Given the description of an element on the screen output the (x, y) to click on. 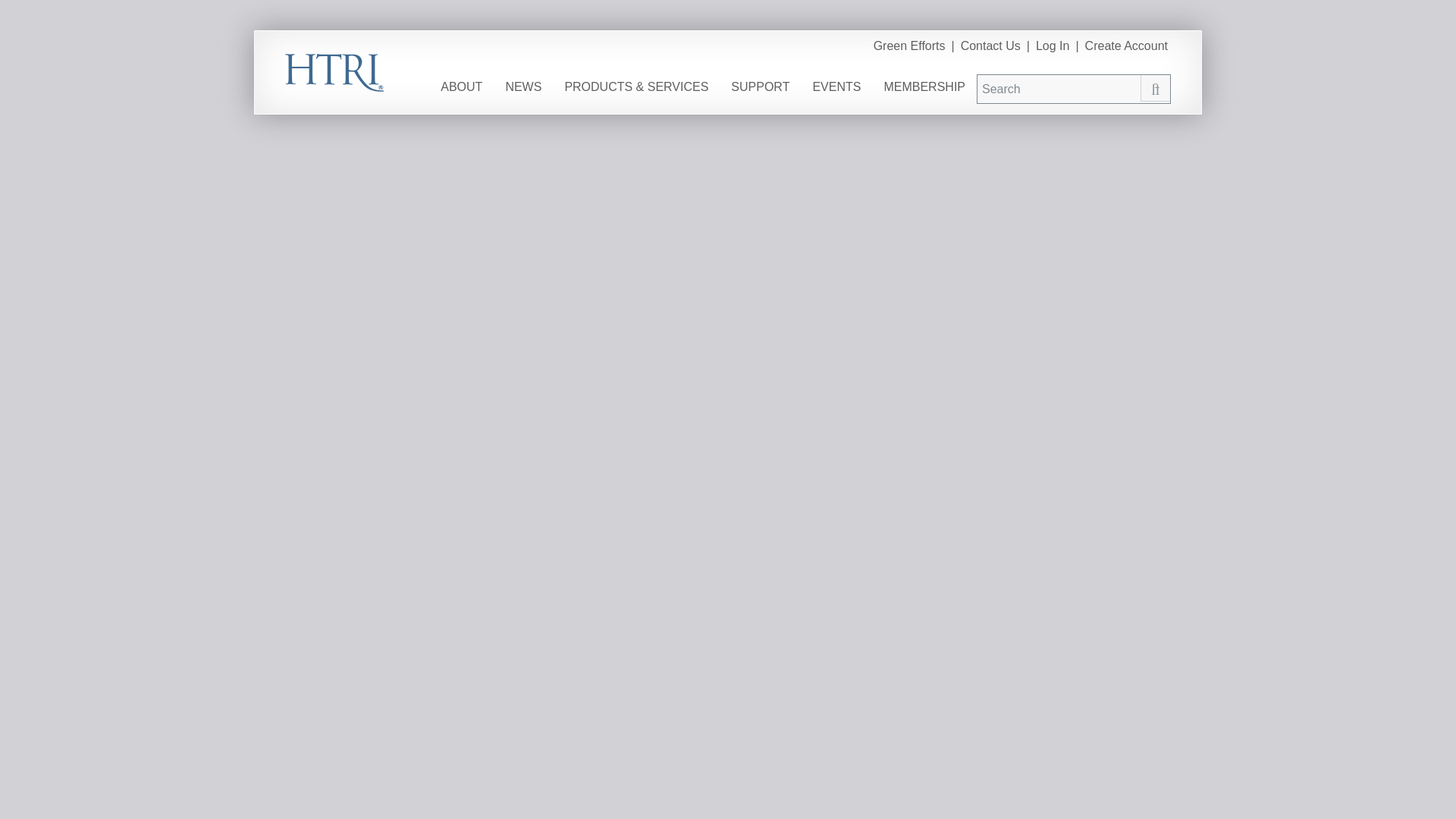
Green Efforts (909, 48)
Create Account (1125, 48)
Log In (1051, 48)
Contact Us (990, 48)
Go to HTRI Home (334, 70)
